Given the description of an element on the screen output the (x, y) to click on. 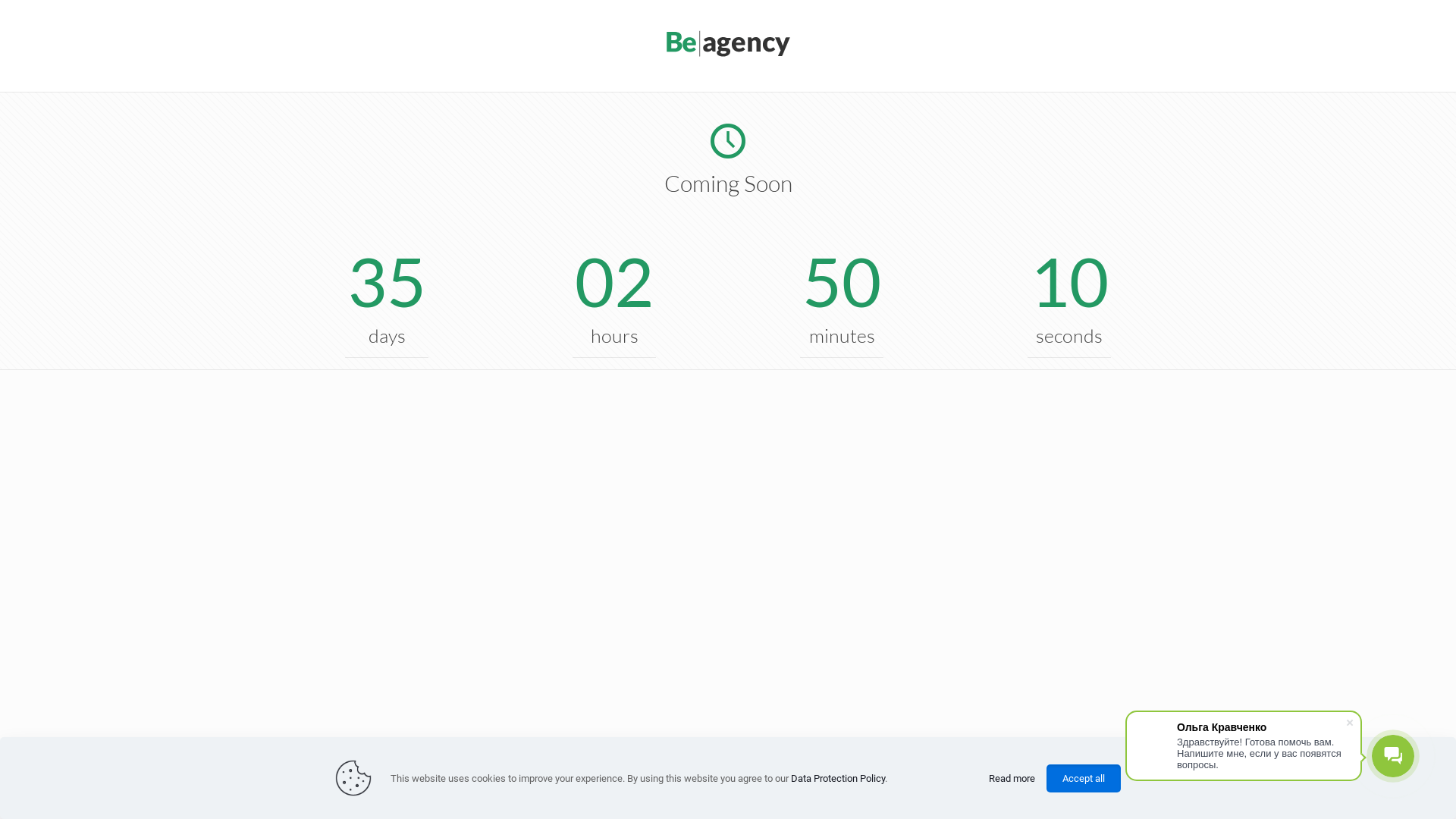
pengvin Element type: hover (727, 53)
Data Protection Policy Element type: text (837, 777)
Accept all Element type: text (1083, 778)
Read more Element type: text (1011, 778)
